Given the description of an element on the screen output the (x, y) to click on. 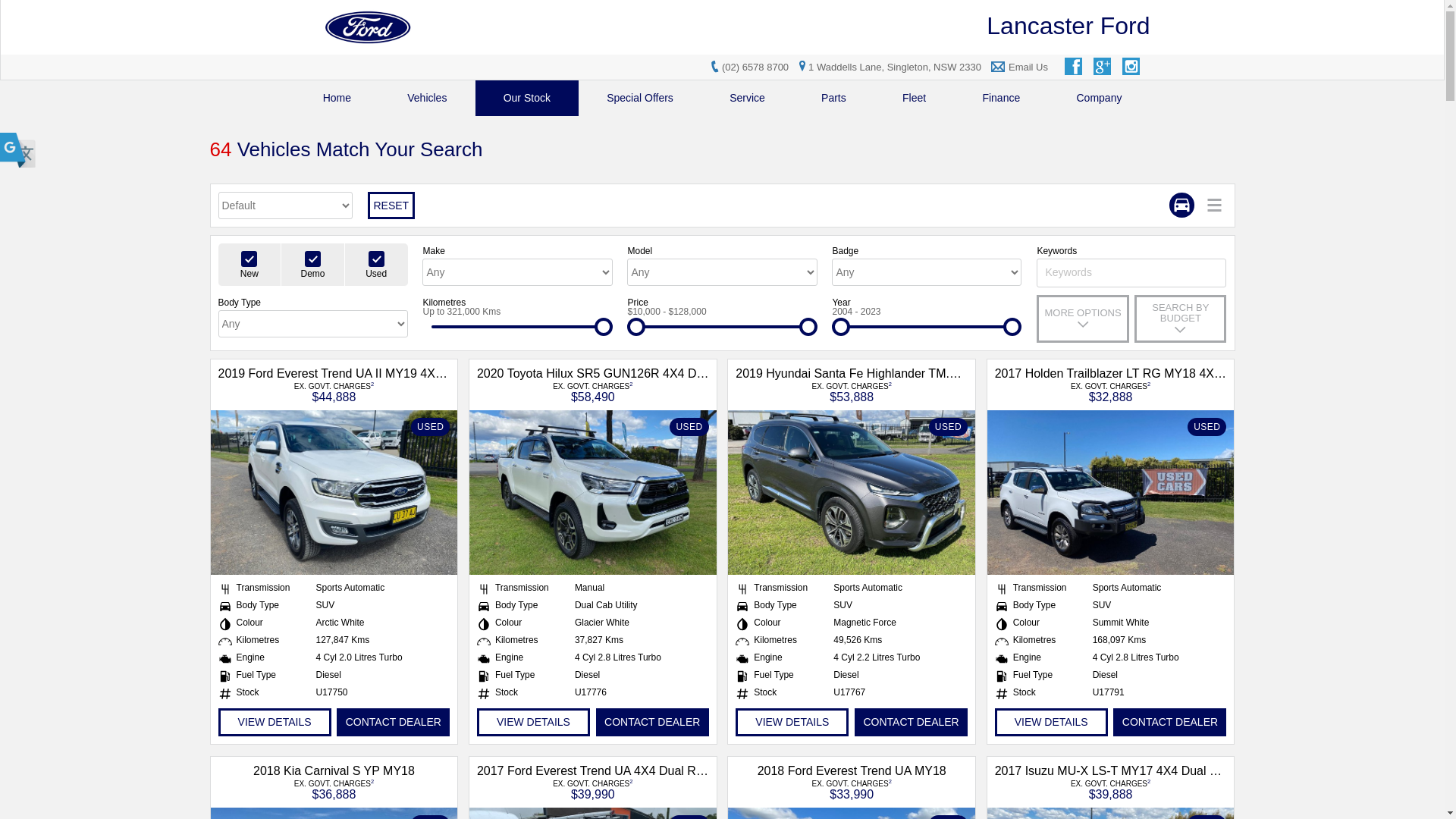
EX. GOVT. CHARGES2
$33,990 Element type: text (851, 789)
EX. GOVT. CHARGES2
$53,888 Element type: text (851, 391)
EX. GOVT. CHARGES2
$36,888 Element type: text (334, 789)
GooglePlus Element type: text (1103, 66)
Home Element type: text (336, 98)
EX. GOVT. CHARGES2
$44,888 Element type: text (334, 391)
1 Waddells Lane, Singleton, NSW 2330 Element type: text (887, 66)
Company Element type: text (1098, 98)
EX. GOVT. CHARGES2
$39,888 Element type: text (1110, 789)
Parts Element type: text (833, 98)
Service Element type: text (747, 98)
CONTACT DEALER Element type: text (652, 722)
EX. GOVT. CHARGES2
$32,888 Element type: text (1110, 391)
EX. GOVT. CHARGES2
$58,490 Element type: text (592, 391)
Fleet Element type: text (913, 98)
Facebook Element type: text (1074, 66)
CONTACT DEALER Element type: text (392, 722)
CONTACT DEALER Element type: text (910, 722)
USED Element type: text (592, 492)
USED Element type: text (851, 492)
(02) 6578 8700 Element type: text (754, 66)
SEARCH BY BUDGET Element type: text (1180, 318)
VIEW DETAILS Element type: text (791, 722)
VIEW DETAILS Element type: text (1050, 722)
Email Us Element type: text (1028, 66)
CONTACT DEALER Element type: text (1169, 722)
Vehicles Element type: text (426, 98)
RESET Element type: text (390, 205)
Instagram Element type: text (1132, 66)
Special Offers Element type: text (639, 98)
Finance Element type: text (1000, 98)
VIEW DETAILS Element type: text (532, 722)
Our Stock Element type: text (527, 98)
EX. GOVT. CHARGES2
$39,990 Element type: text (592, 789)
MORE OPTIONS Element type: text (1082, 318)
USED Element type: text (334, 492)
USED Element type: text (1110, 492)
VIEW DETAILS Element type: text (274, 722)
